Given the description of an element on the screen output the (x, y) to click on. 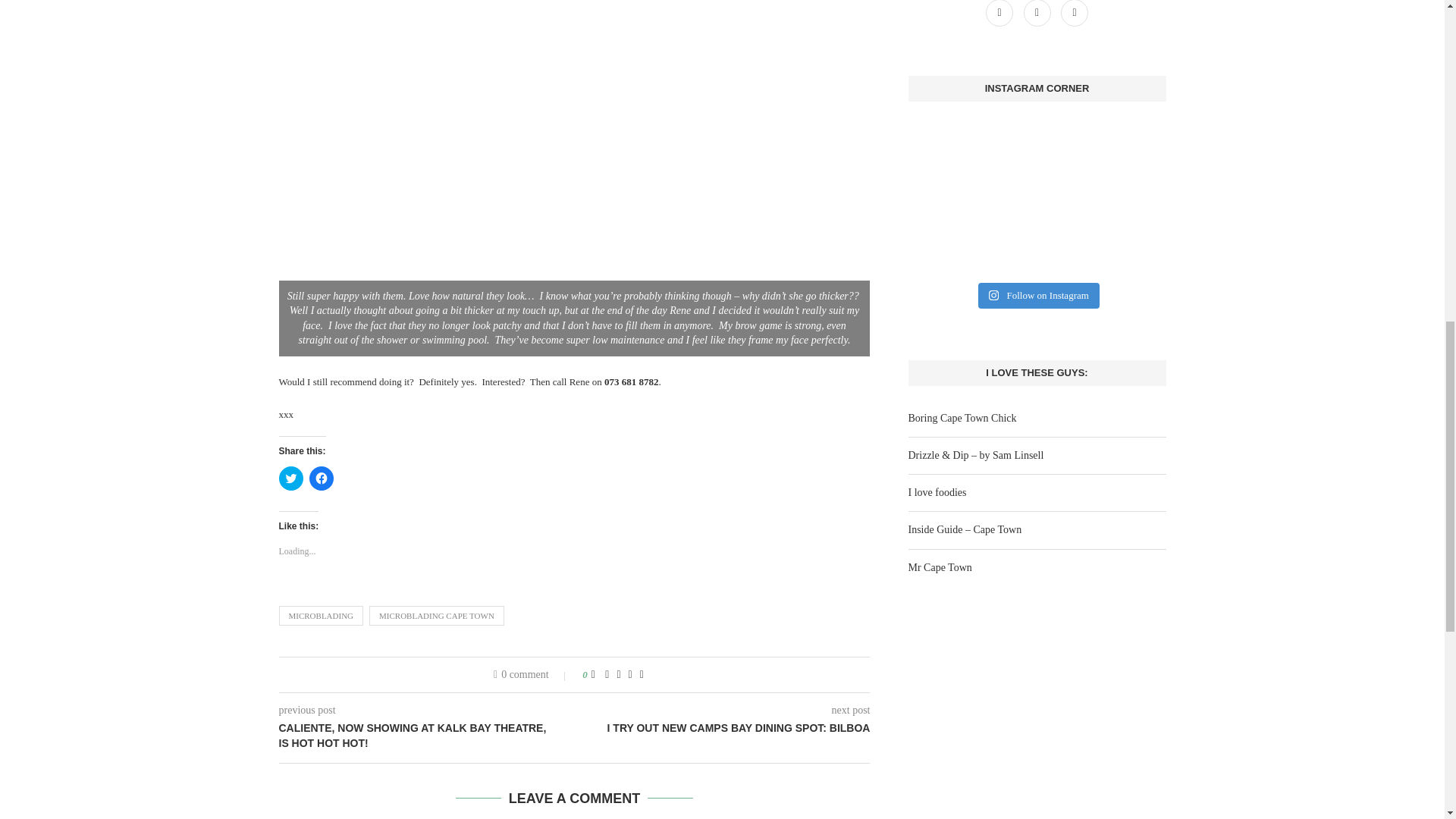
Click to share on Twitter (290, 478)
CALIENTE, NOW SHOWING AT KALK BAY THEATRE, IS HOT HOT HOT! (427, 736)
MICROBLADING (321, 615)
I TRY OUT NEW CAMPS BAY DINING SPOT: BILBOA (722, 728)
MICROBLADING CAPE TOWN (436, 615)
Click to share on Facebook (320, 478)
